Given the description of an element on the screen output the (x, y) to click on. 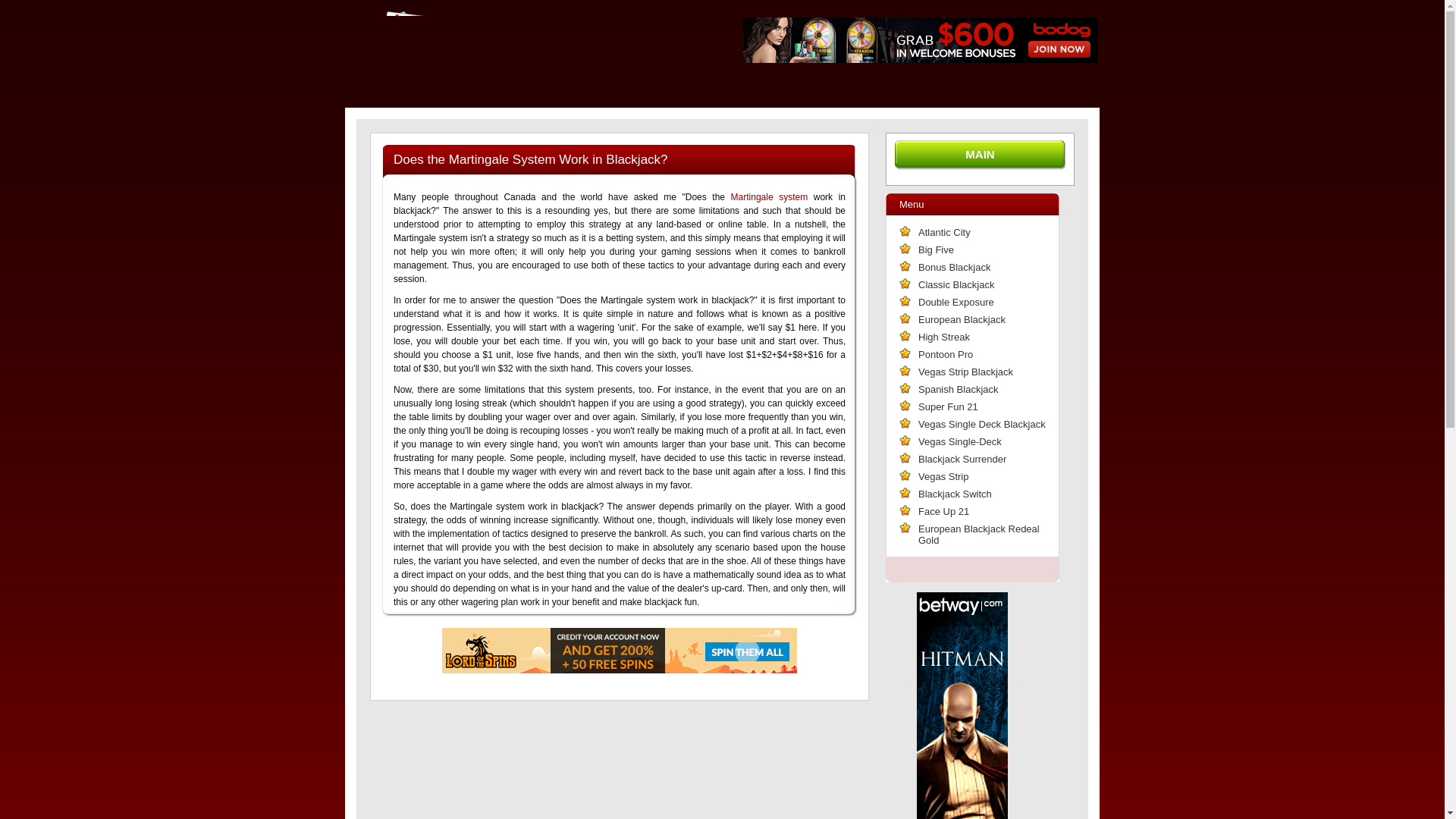
Vegas Strip Element type: text (943, 476)
European Blackjack Redeal Gold Element type: text (978, 534)
Atlantic City Element type: text (944, 232)
Blackjack Switch Element type: text (954, 493)
Blackjack Surrender Element type: text (962, 458)
Free Bet Advice Element type: text (523, 10)
MAIN Element type: text (979, 153)
Pontoon Pro Element type: text (945, 354)
Vegas Strip Blackjack Element type: text (965, 371)
European Blackjack Element type: text (961, 319)
Martingale system Element type: text (769, 196)
Spanish Blackjack Element type: text (958, 389)
Double Exposure Element type: text (956, 301)
Vegas Single-Deck Element type: text (959, 441)
Big Five Element type: text (935, 249)
Super Fun 21 Element type: text (948, 406)
Classic Blackjack Element type: text (956, 284)
High Streak Element type: text (943, 336)
Vegas Single Deck Blackjack Element type: text (981, 423)
Face Up 21 Element type: text (943, 511)
Bonus Blackjack Element type: text (954, 267)
